Given the description of an element on the screen output the (x, y) to click on. 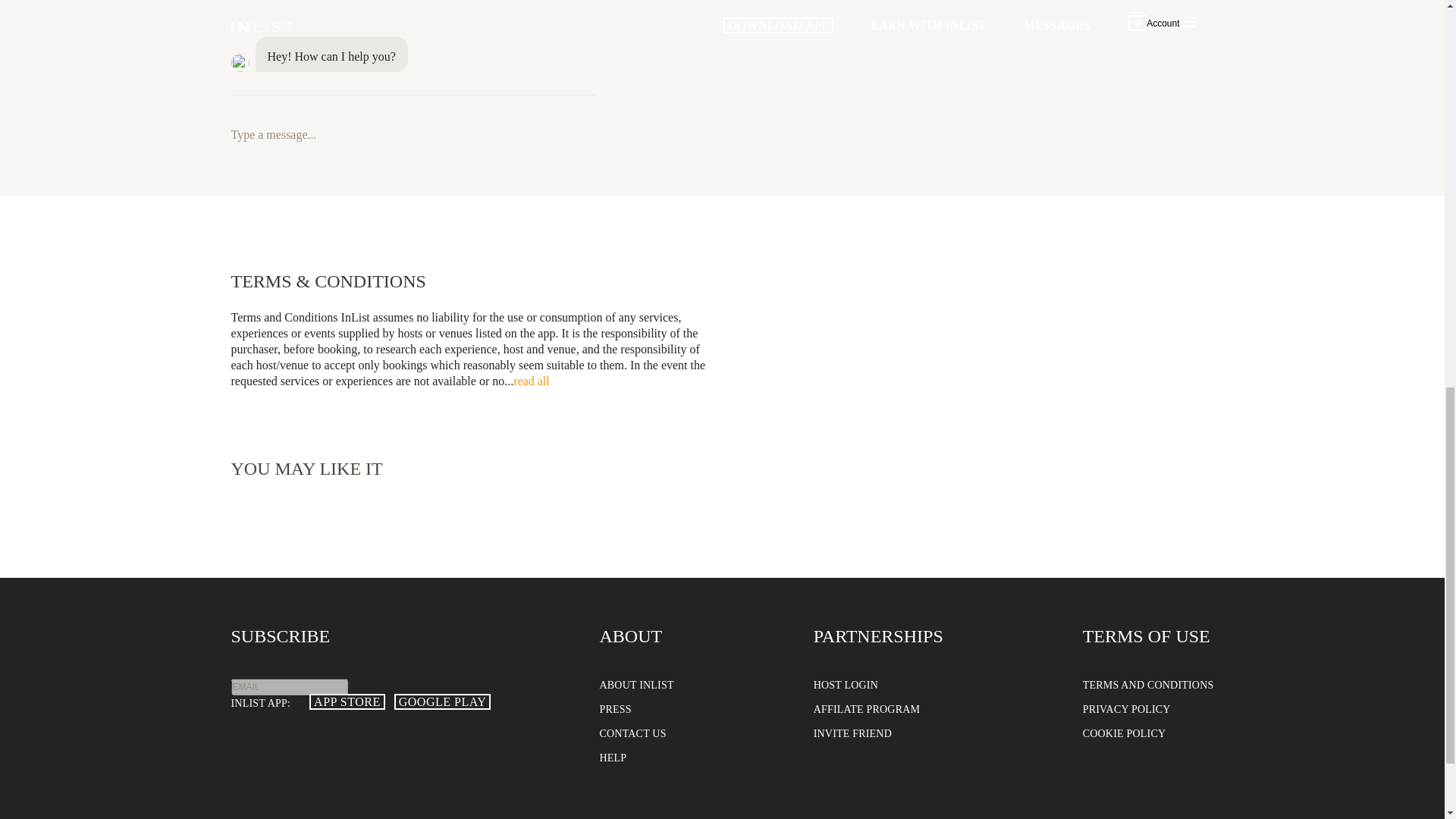
read all (531, 380)
